Given the description of an element on the screen output the (x, y) to click on. 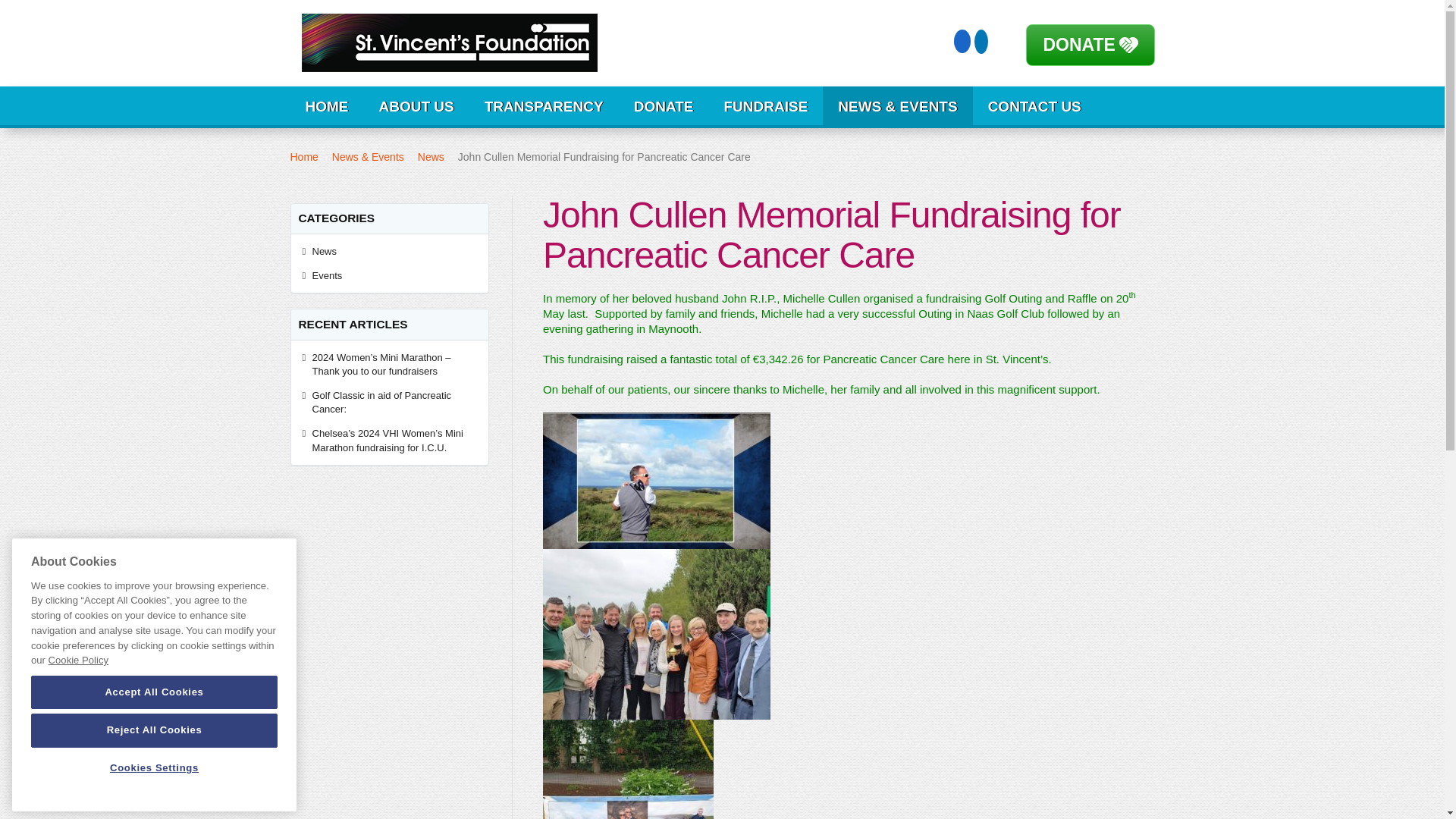
ABOUT US (416, 105)
FUNDRAISE (764, 105)
TRANSPARENCY (543, 105)
Go to the News category archives. (430, 156)
DONATE (663, 105)
HOME (325, 105)
DONATE (1079, 44)
Look Golf Classic in aid of Pancreatic Cancer: (395, 402)
Go to St. Vincent's Foundation. (303, 156)
